Given the description of an element on the screen output the (x, y) to click on. 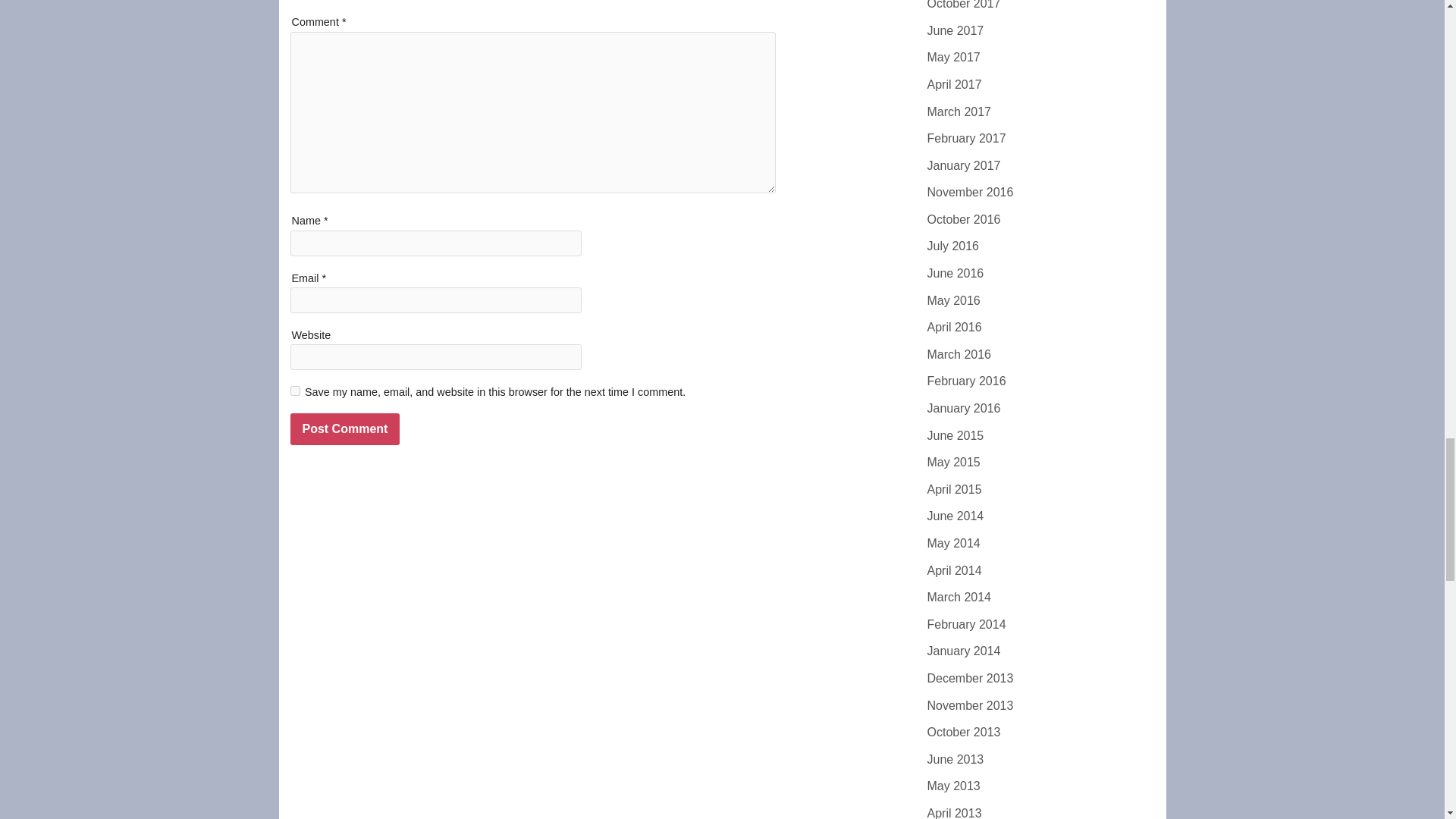
Post Comment (343, 429)
yes (294, 390)
Post Comment (343, 429)
